Given the description of an element on the screen output the (x, y) to click on. 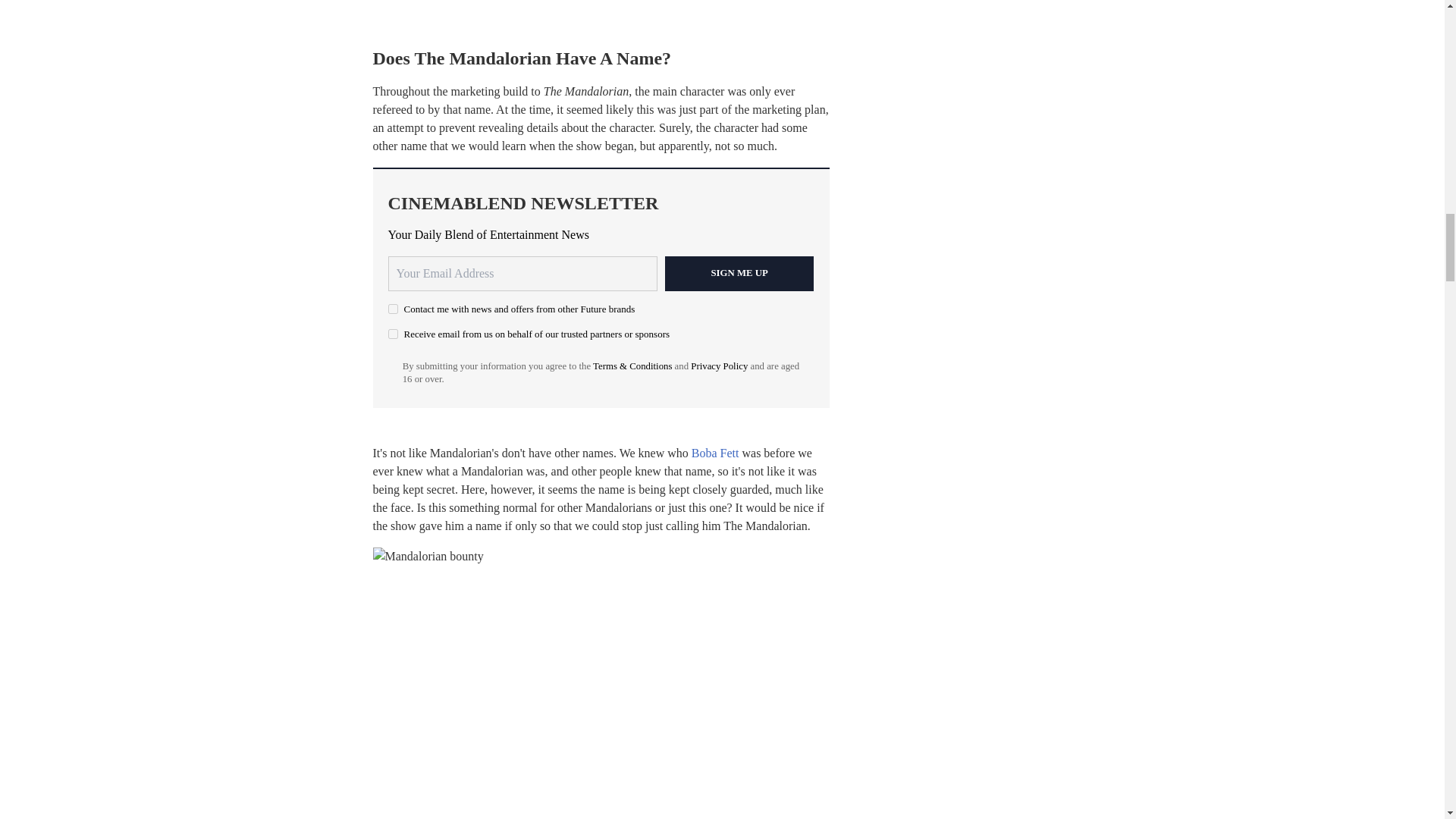
Sign me up (739, 273)
on (392, 308)
on (392, 334)
